Given the description of an element on the screen output the (x, y) to click on. 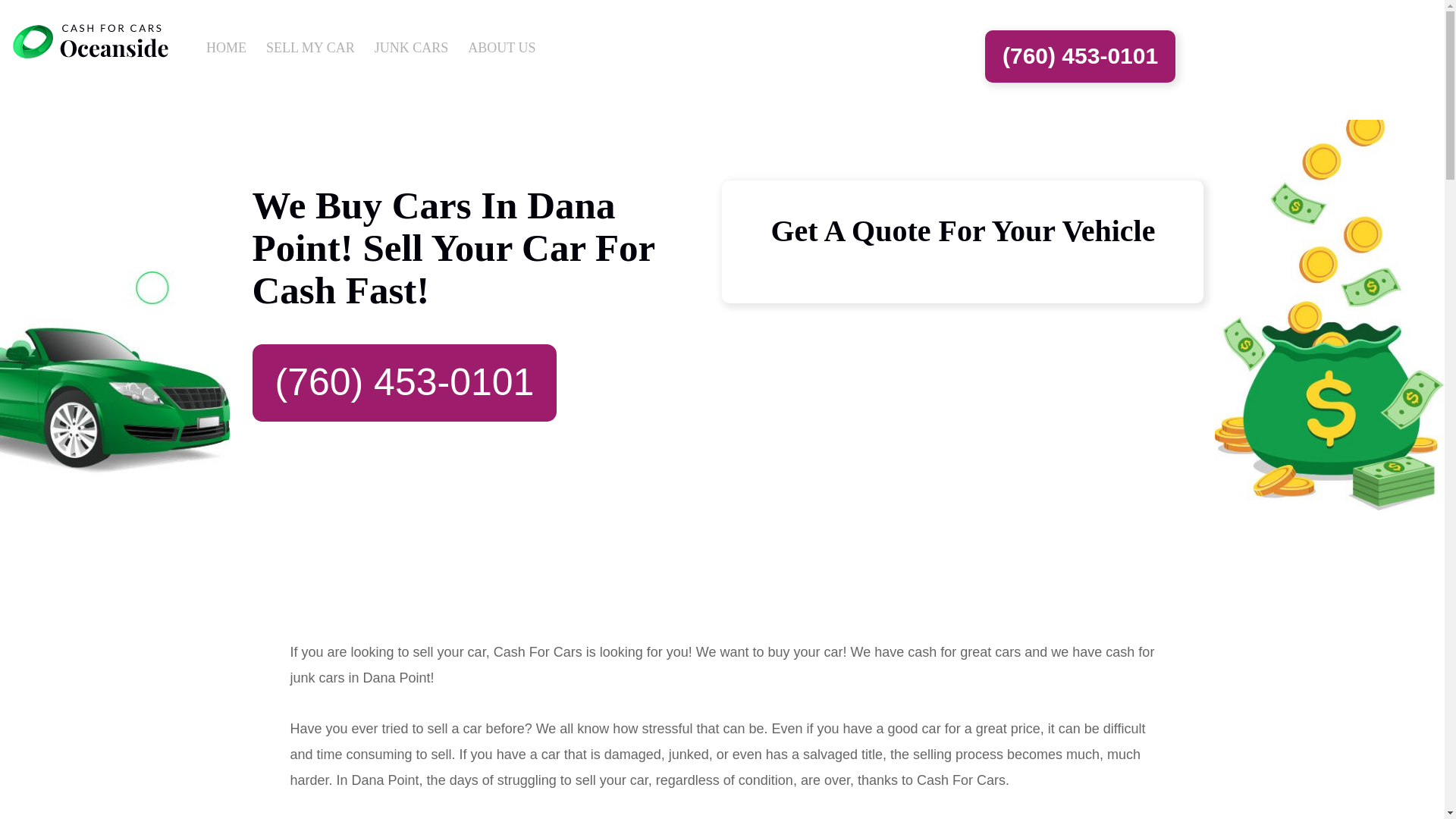
ABOUT US (497, 41)
HOME (221, 41)
JUNK CARS (406, 41)
SELL MY CAR (306, 41)
